Given the description of an element on the screen output the (x, y) to click on. 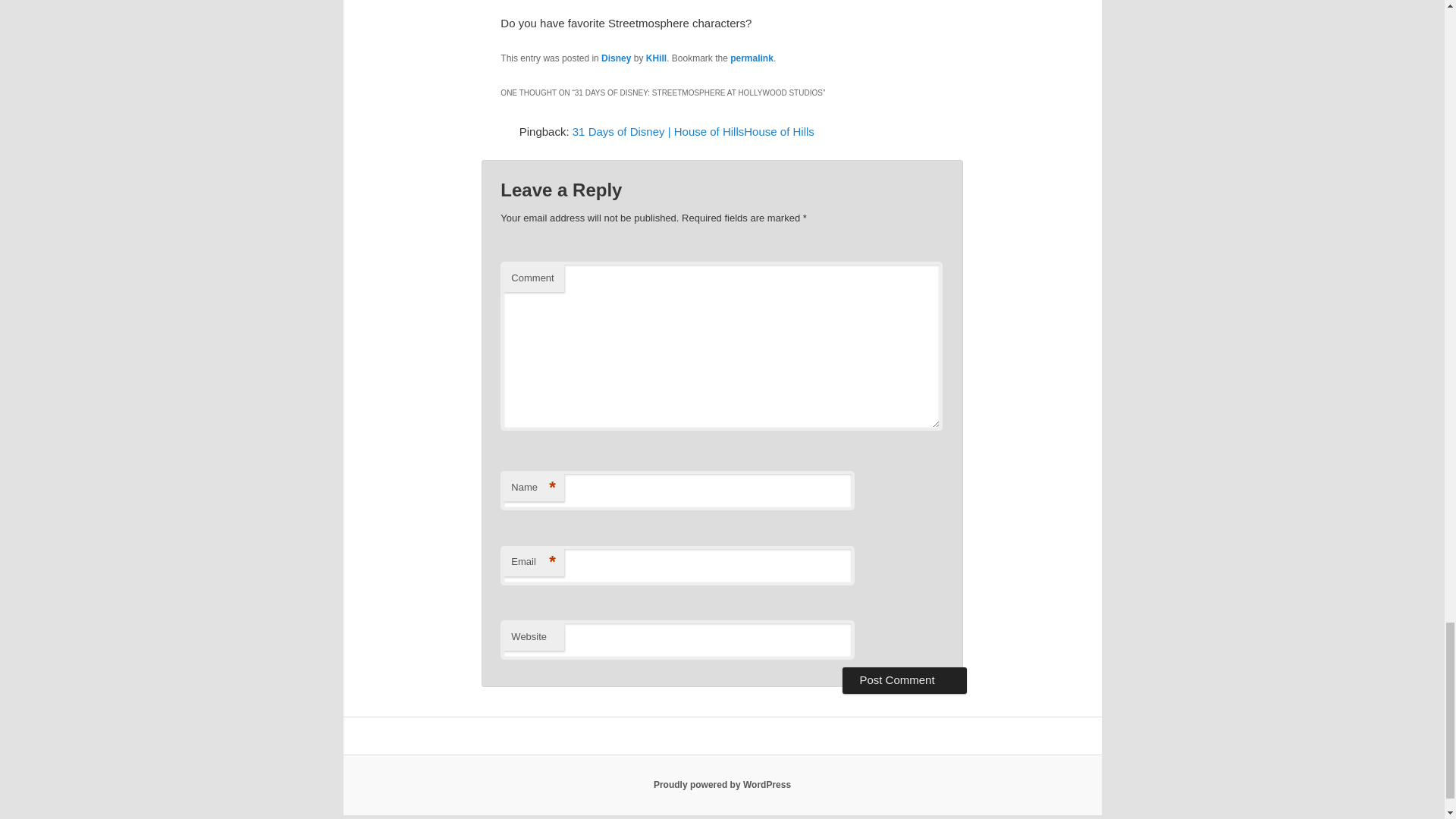
permalink (751, 58)
Disney (615, 58)
Post Comment (904, 679)
Semantic Personal Publishing Platform (721, 784)
Proudly powered by WordPress (721, 784)
KHill (656, 58)
Post Comment (904, 679)
